Given the description of an element on the screen output the (x, y) to click on. 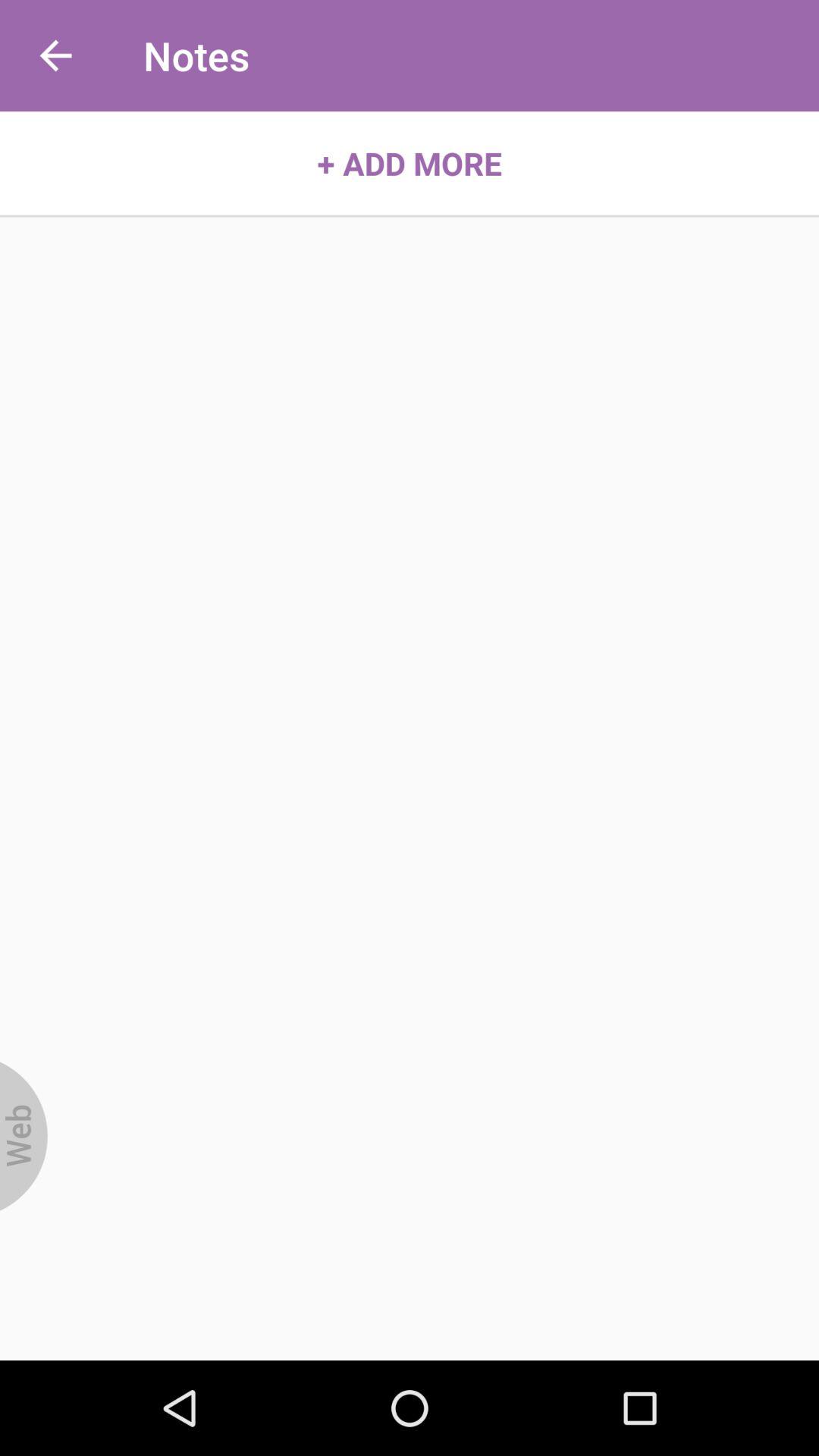
click icon above the + add more item (55, 55)
